Given the description of an element on the screen output the (x, y) to click on. 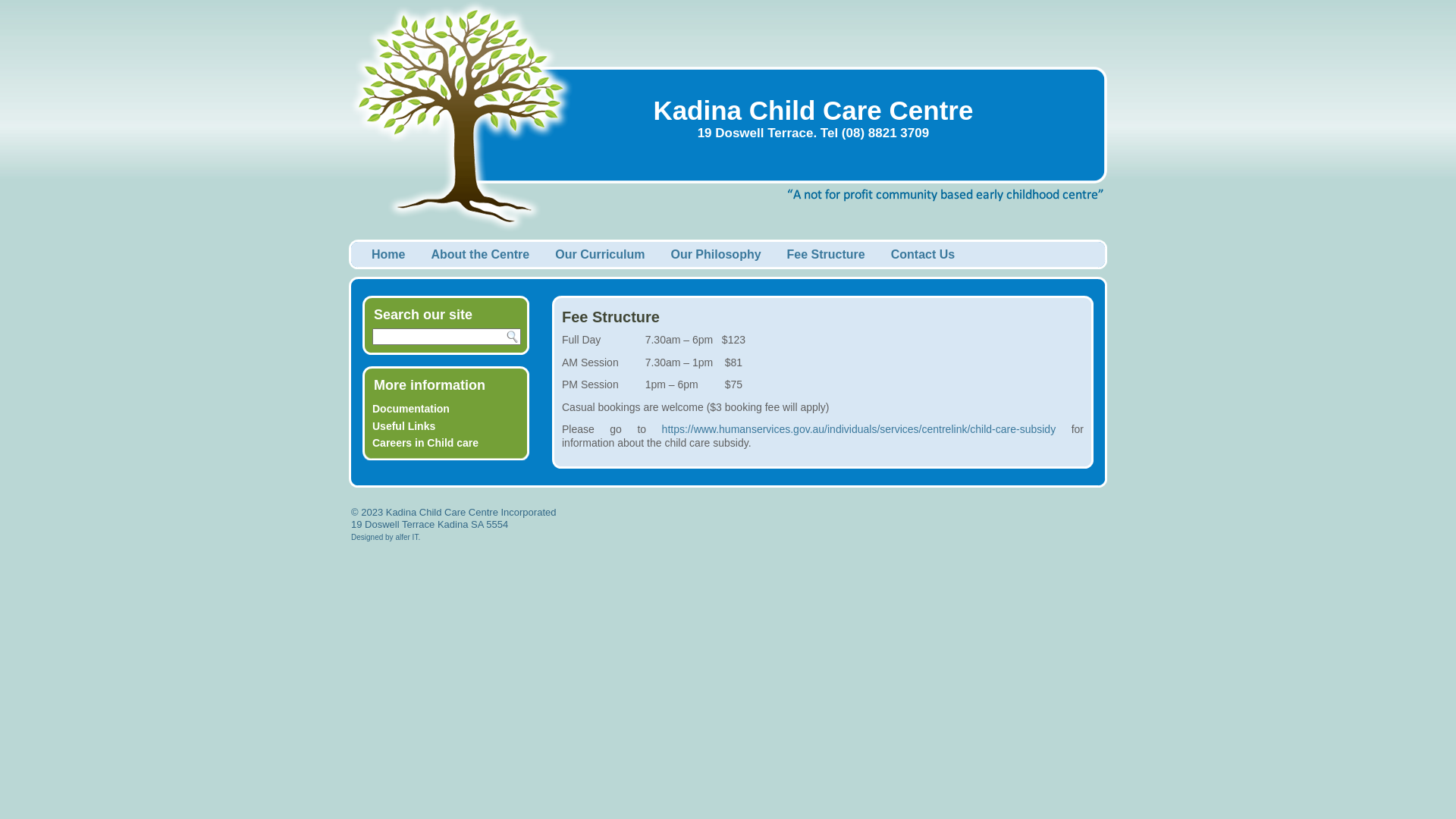
Our Curriculum Element type: text (599, 253)
alfer IT Element type: text (406, 536)
Kadina Child Care Centre Element type: text (812, 110)
Home Element type: text (387, 253)
Useful Links Element type: text (403, 426)
Our Philosophy Element type: text (715, 253)
Contact Us Element type: text (922, 253)
Documentation Element type: text (410, 408)
About the Centre Element type: text (479, 253)
Fee Structure Element type: text (826, 253)
Careers in Child care Element type: text (425, 442)
